Given the description of an element on the screen output the (x, y) to click on. 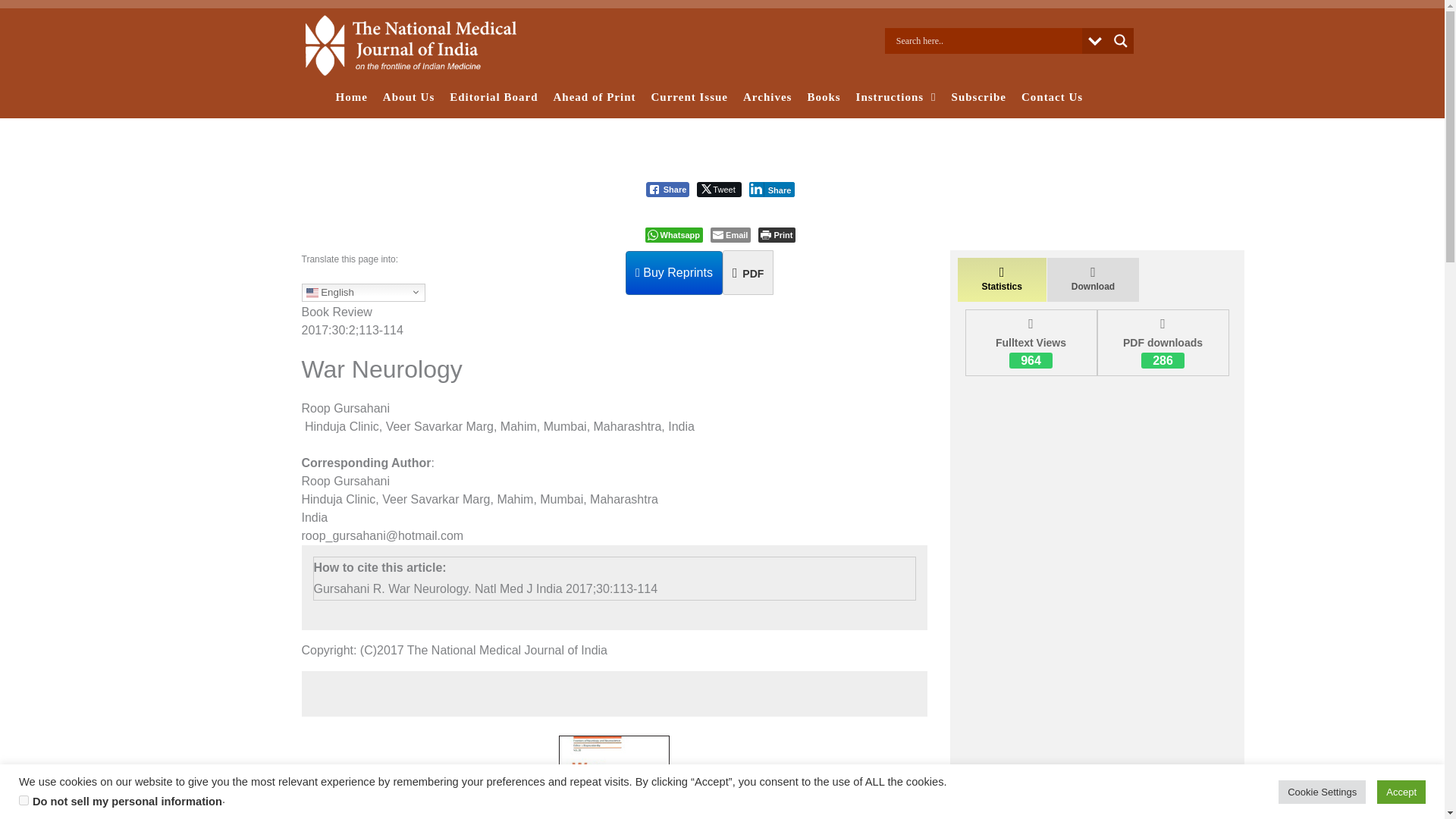
Subscribe (978, 96)
Books (823, 96)
Current Issue (689, 96)
Archives (767, 96)
About Us (408, 96)
Home (350, 96)
Instructions (895, 96)
Contact Us (1051, 96)
on (23, 800)
Editorial Board (493, 96)
Ahead of Print (594, 96)
